Given the description of an element on the screen output the (x, y) to click on. 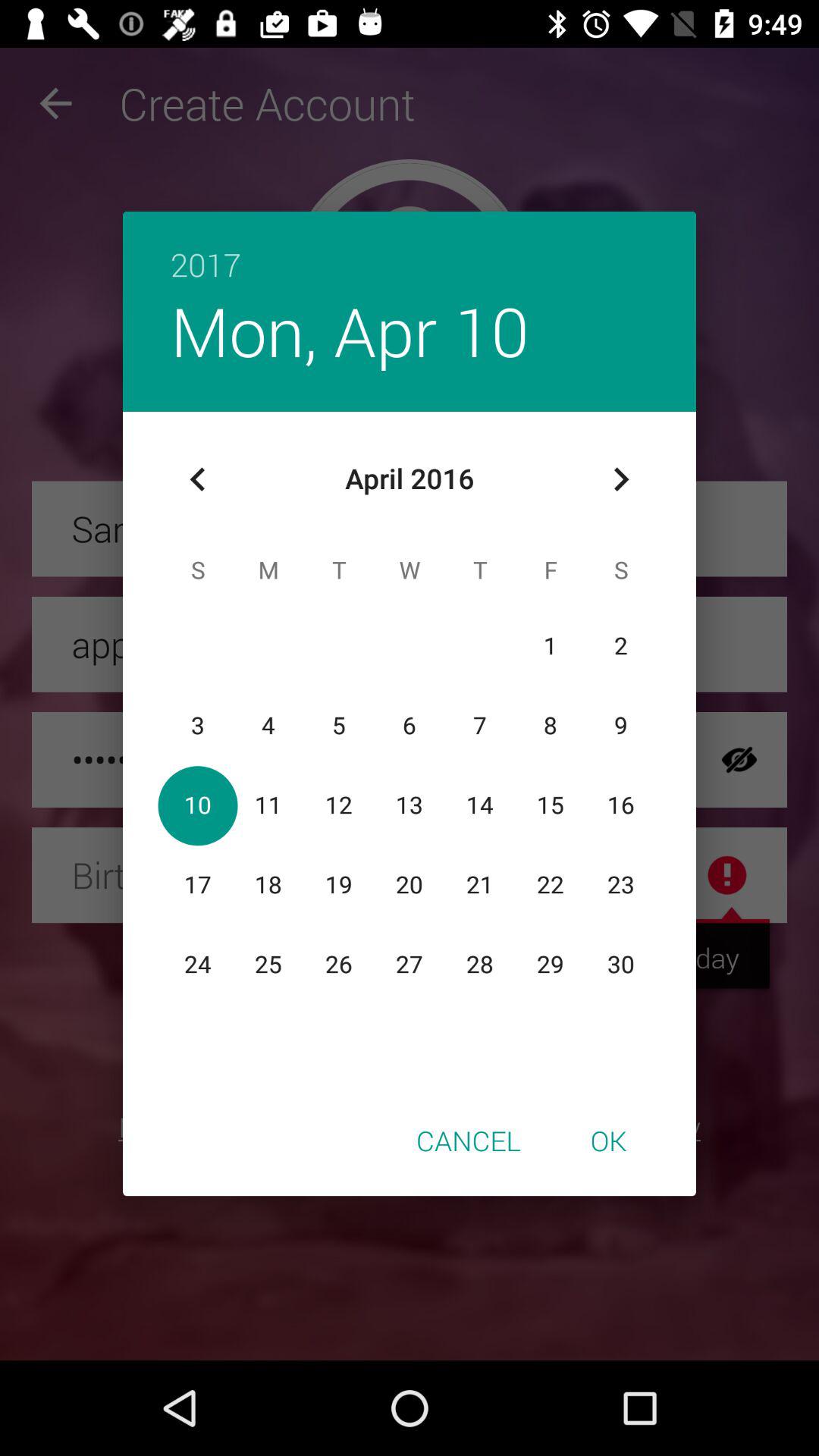
choose item next to the ok item (468, 1140)
